Given the description of an element on the screen output the (x, y) to click on. 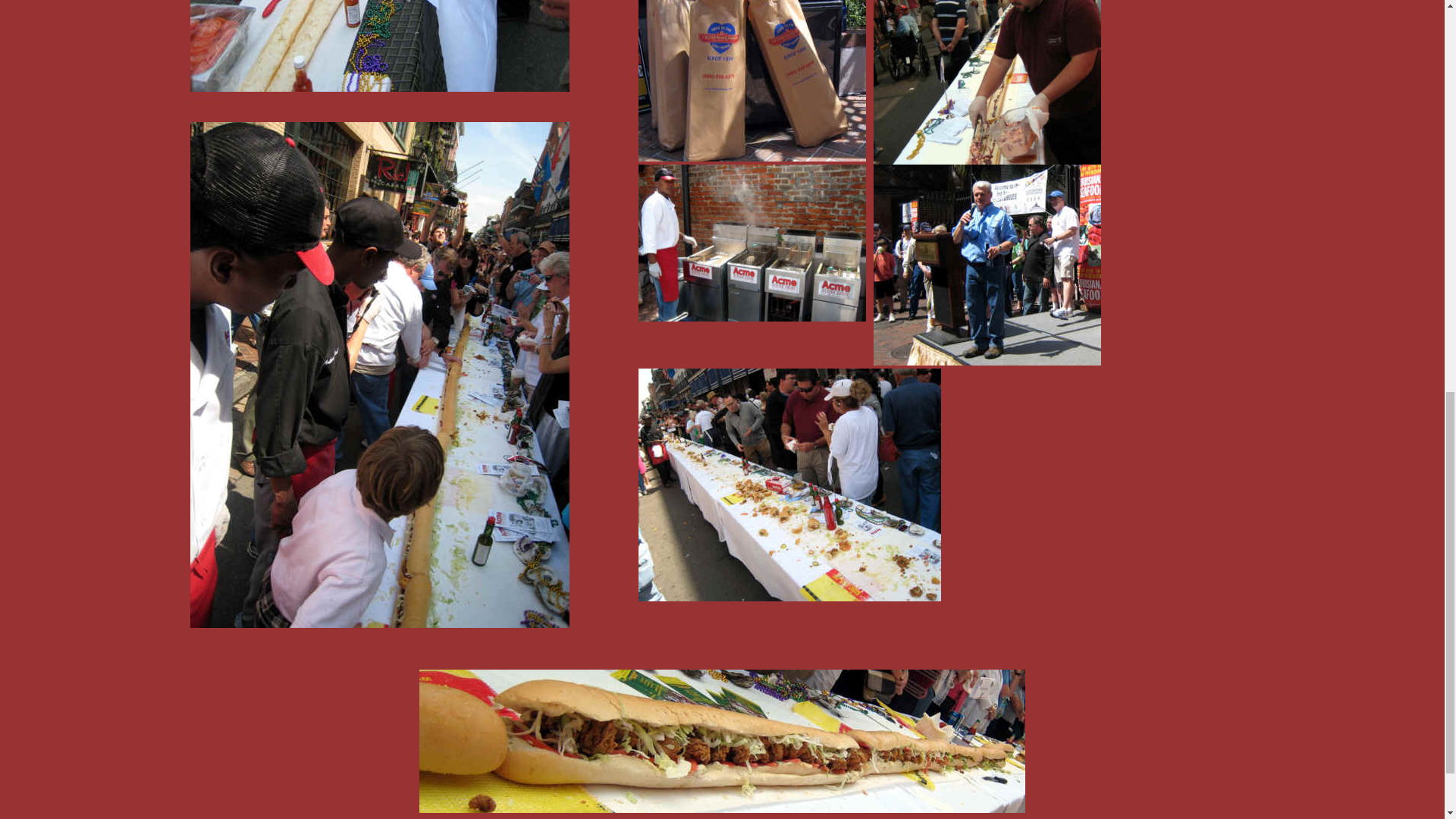
OysterJubilee-AllGone (789, 484)
OysterJubilee-Fryers (752, 242)
OysterJubilee-LongestPoBoy (379, 45)
OysterJubilee-LeidenheimerBreadBags (752, 80)
OysterJubilee-DressingPoBoy (986, 82)
OysterJubilee-SeafoodGuy (986, 264)
